Given the description of an element on the screen output the (x, y) to click on. 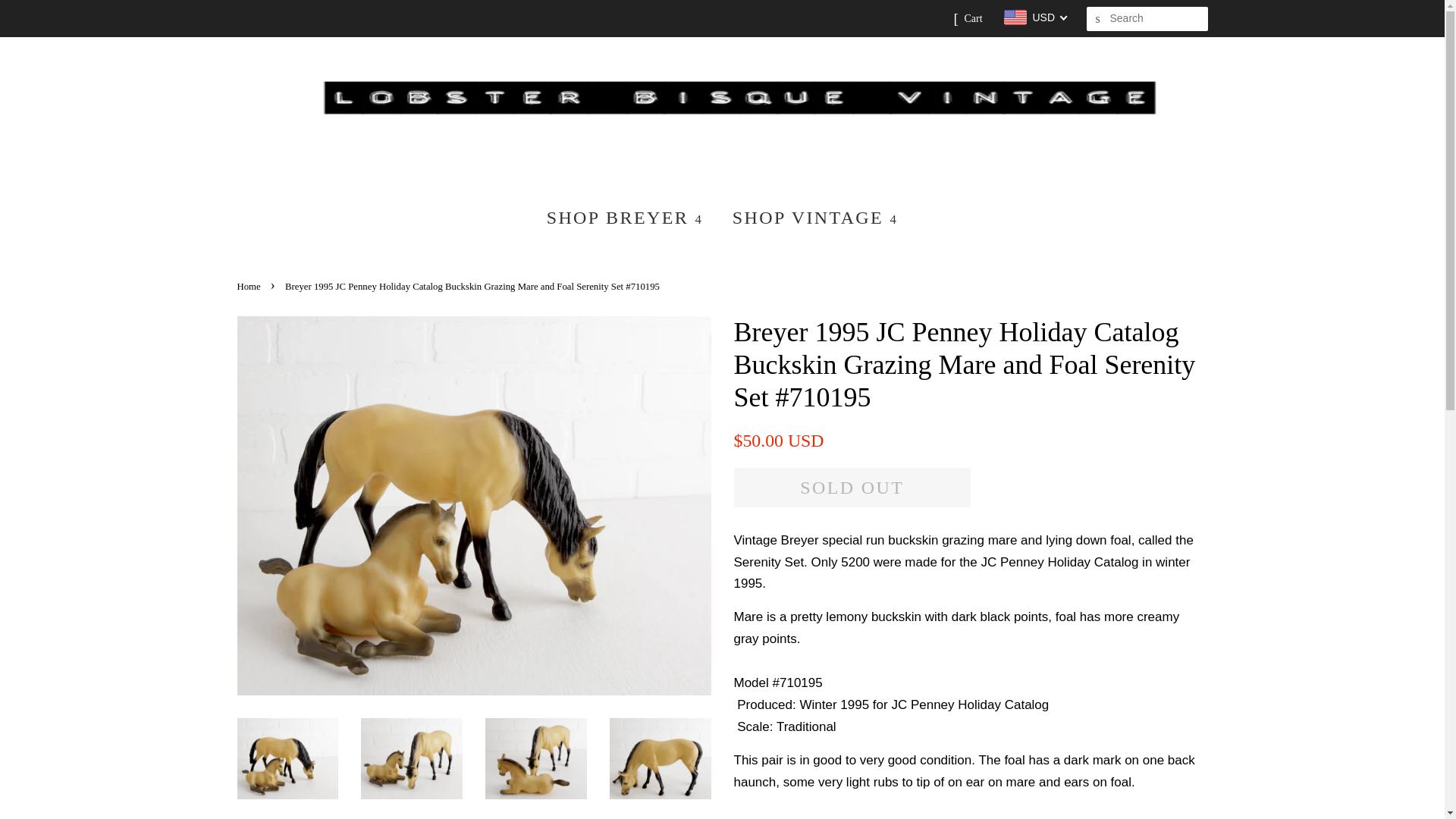
SEARCH (1097, 18)
Back to the frontpage (249, 286)
Cart (972, 18)
SHOP BREYER (630, 217)
SOLD OUT (852, 486)
Home (249, 286)
SHOP VINTAGE (809, 217)
